Given the description of an element on the screen output the (x, y) to click on. 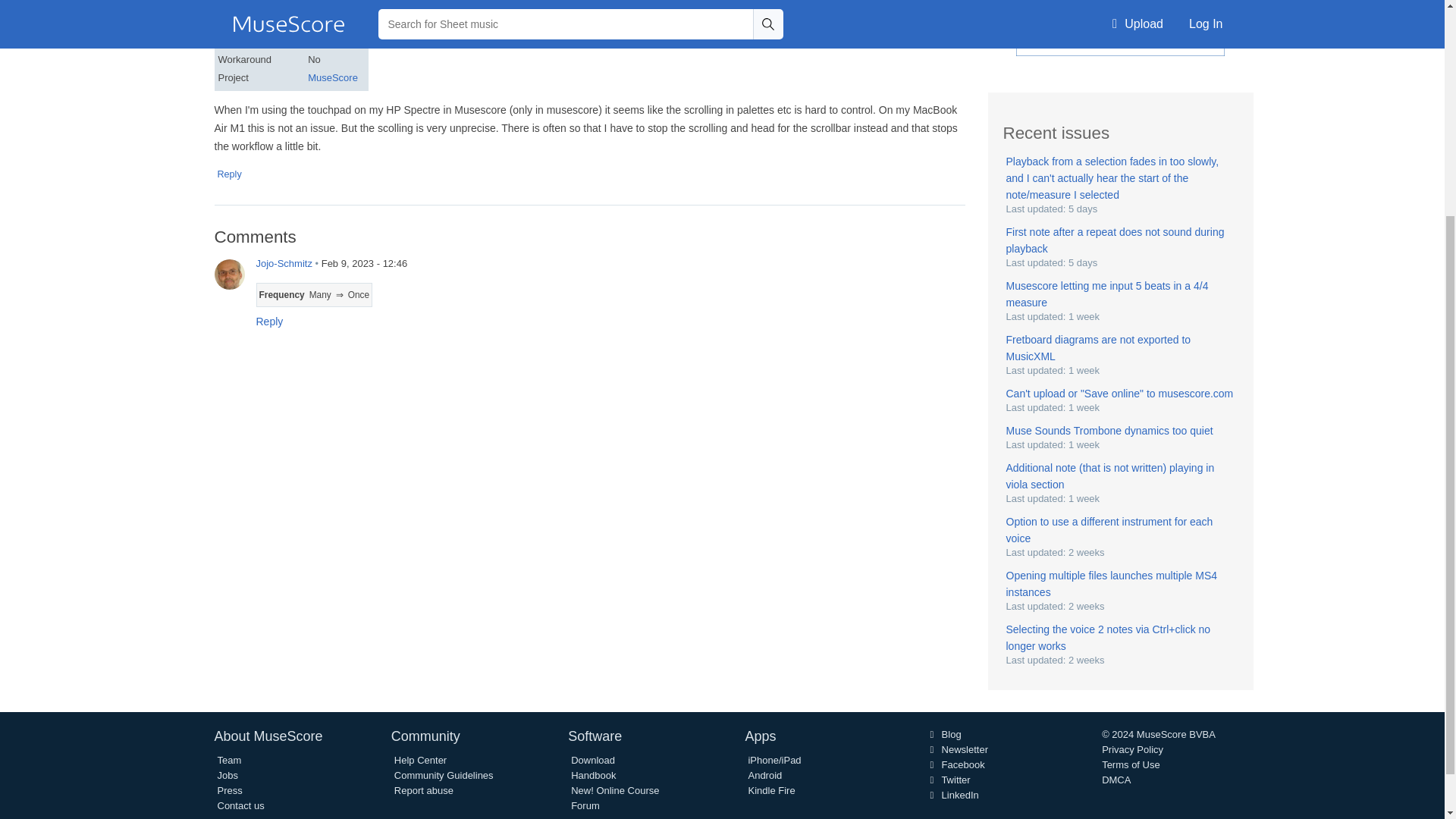
Jojo-Schmitz (229, 274)
